Given the description of an element on the screen output the (x, y) to click on. 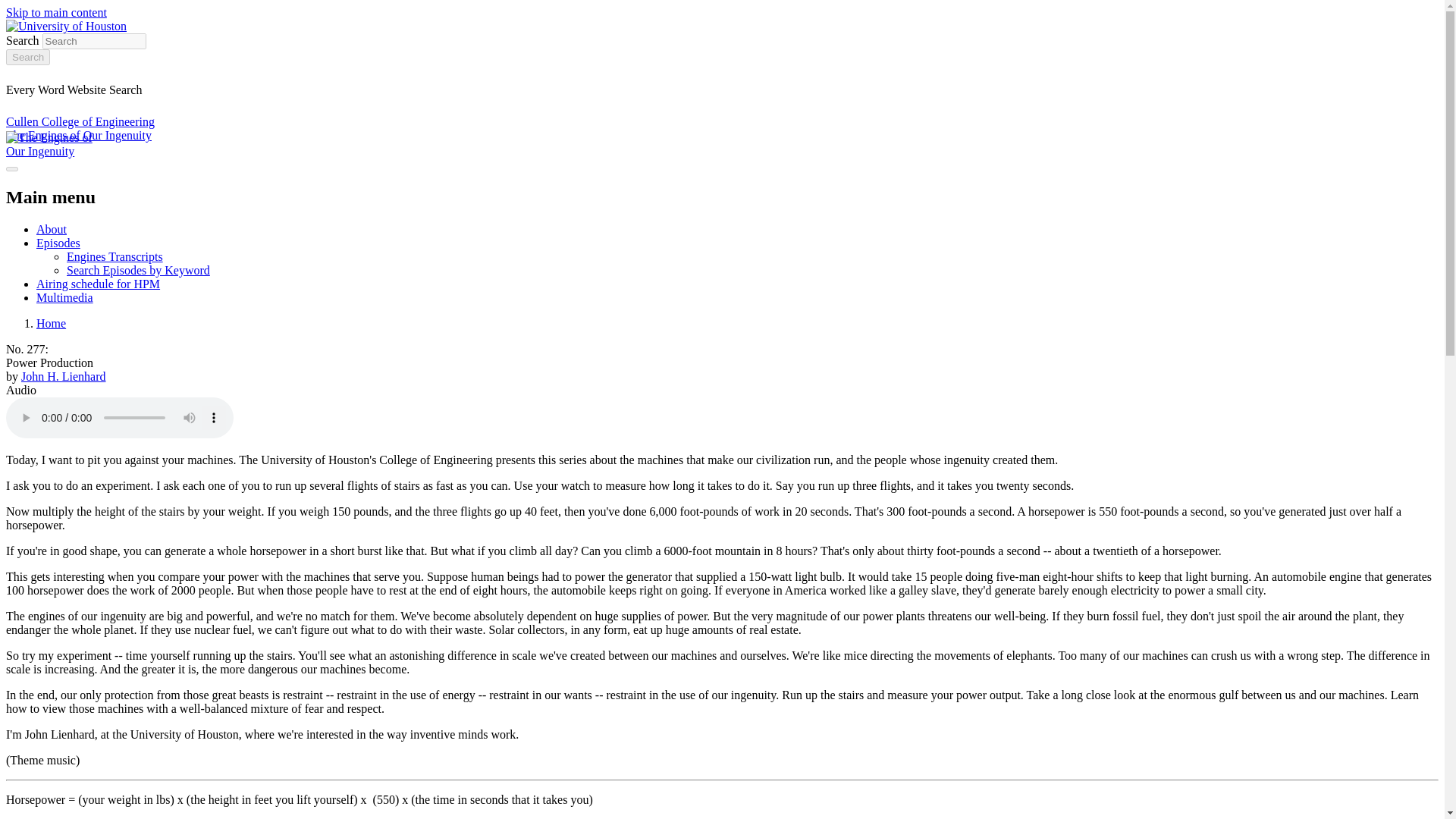
Search Episodes by Keyword (137, 269)
The Engines of Our Ingenuity (78, 134)
Skip to main content (55, 11)
Episodes (58, 242)
Cullen College of Engineering (79, 121)
John H. Lienhard (63, 376)
About (51, 228)
About (51, 228)
Multimedia (64, 297)
Engines Transcripts (114, 256)
Engines Transcripts (114, 256)
Airing schedule for HPM (98, 283)
Episodes (58, 242)
Multimedia (64, 297)
Home (50, 323)
